Given the description of an element on the screen output the (x, y) to click on. 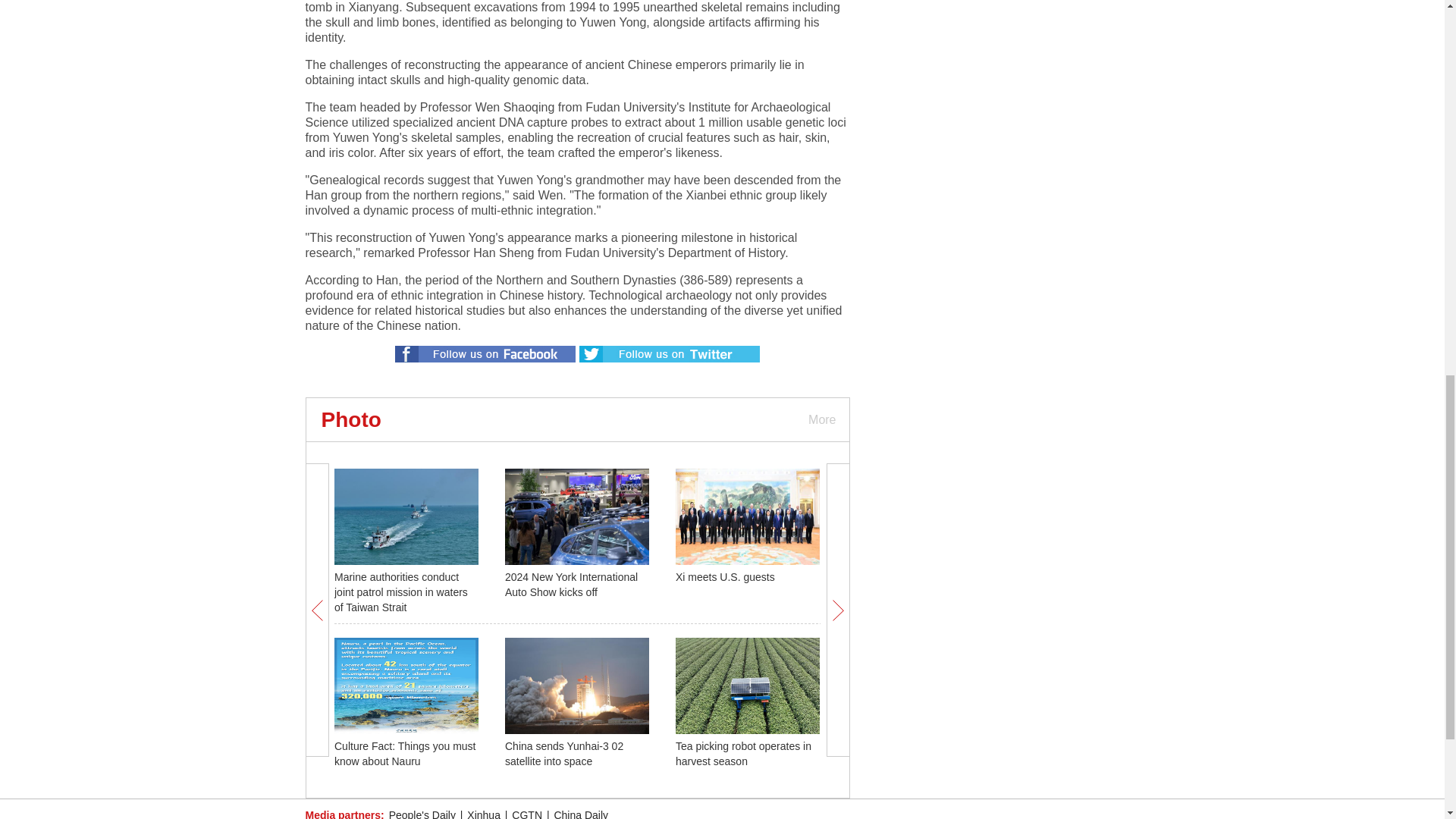
China sends Yunhai-3 02 satellite into space (564, 753)
Xi meets U.S. guests (724, 576)
Tea picking robot operates in harvest season (742, 753)
2024 New York International Auto Show kicks off (571, 584)
Culture Fact: Things you must know about Nauru (405, 753)
